Given the description of an element on the screen output the (x, y) to click on. 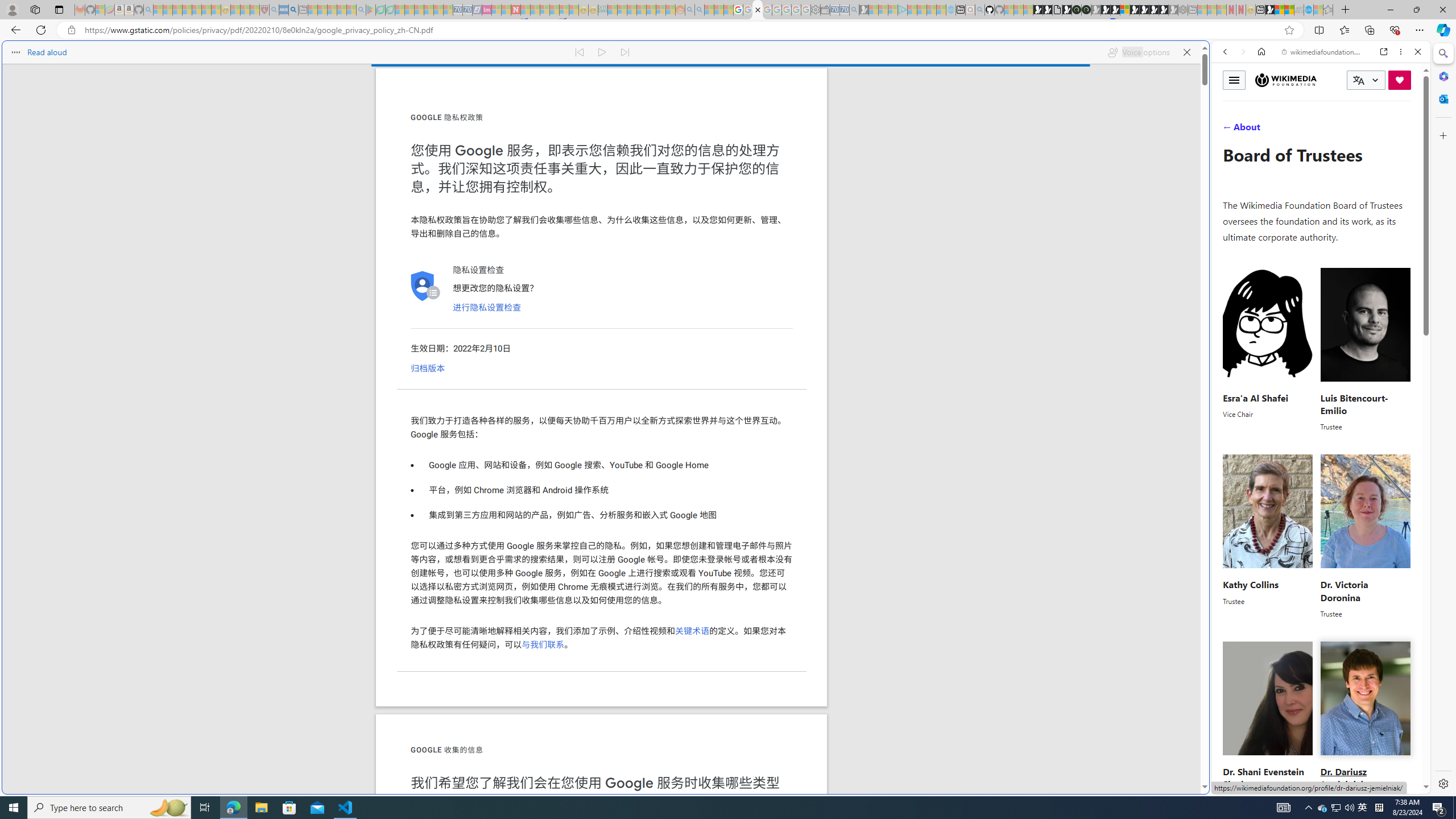
Esra'a Al ShafeiVice Chair (1268, 349)
Kathy CollinsTrustee (1268, 536)
